Given the description of an element on the screen output the (x, y) to click on. 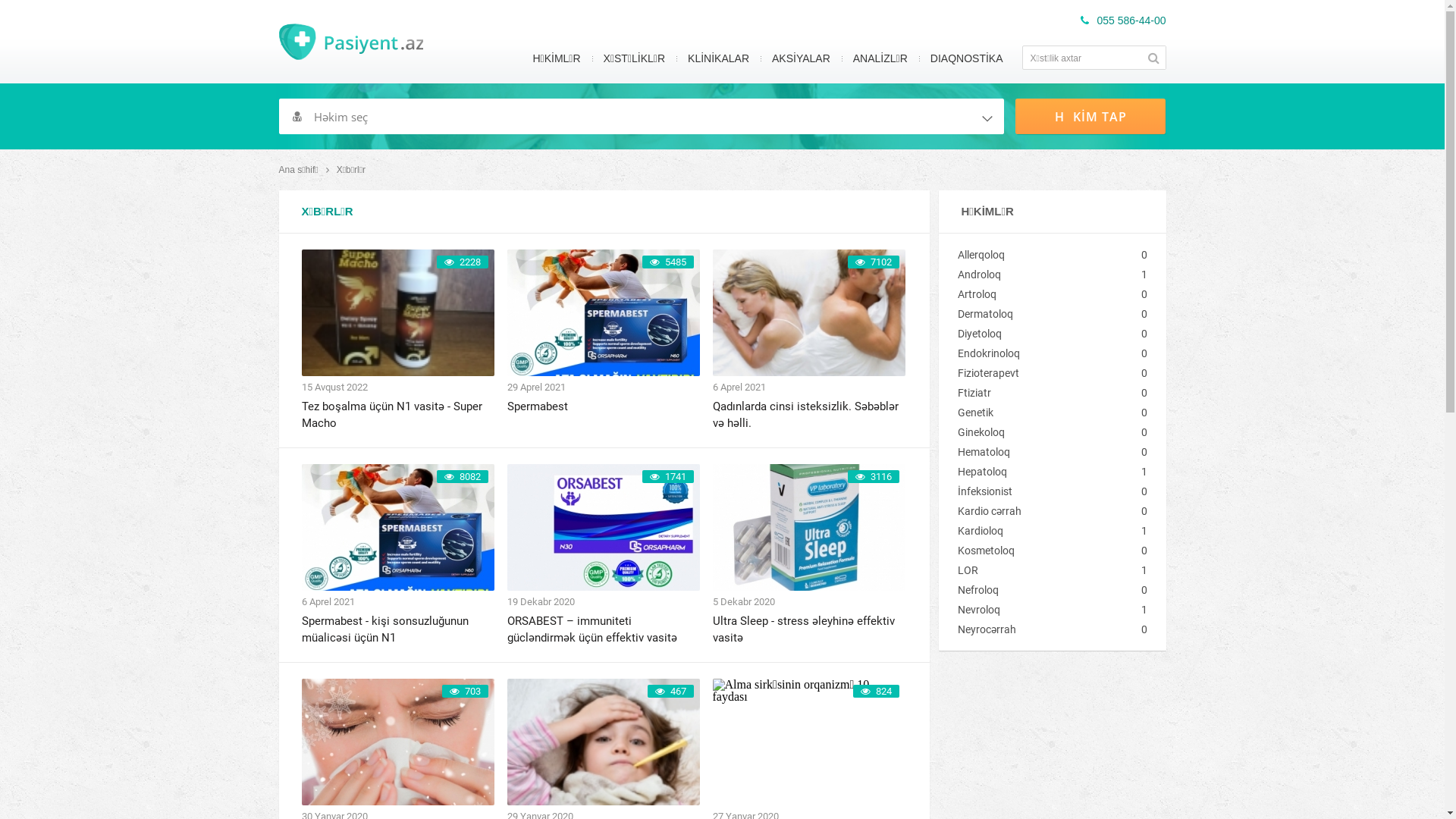
Diyetoloq Element type: text (1039, 333)
Hepatoloq Element type: text (1039, 471)
Hematoloq Element type: text (1039, 451)
Fizioterapevt Element type: text (1039, 373)
Kosmetoloq Element type: text (1039, 550)
Nefroloq Element type: text (1039, 589)
Genetik Element type: text (1039, 412)
Dermatoloq Element type: text (1039, 313)
LOR Element type: text (1039, 570)
Allerqoloq Element type: text (1039, 254)
Androloq Element type: text (1039, 274)
Nevroloq Element type: text (1039, 609)
Endokrinoloq Element type: text (1039, 353)
Artroloq Element type: text (1039, 294)
Ginekoloq Element type: text (1039, 432)
Kardioloq Element type: text (1039, 530)
Ftiziatr Element type: text (1039, 392)
